Given the description of an element on the screen output the (x, y) to click on. 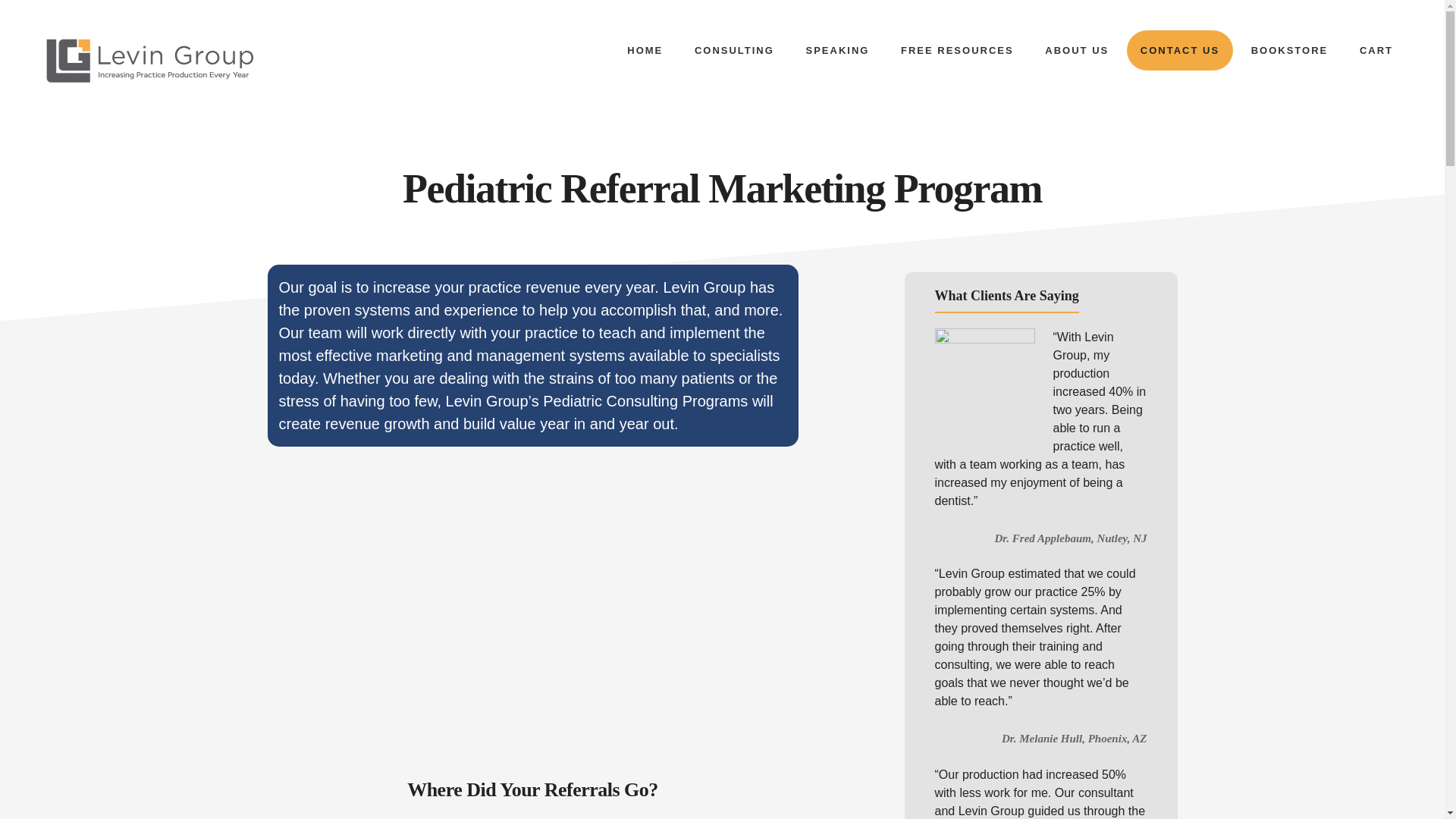
CONSULTING (734, 50)
CART (1375, 50)
CONTACT US (1179, 50)
SPEAKING (837, 50)
LEVIN GROUP INC. (150, 60)
ABOUT US (1076, 50)
FREE RESOURCES (956, 50)
HOME (644, 50)
BOOKSTORE (1289, 50)
